Given the description of an element on the screen output the (x, y) to click on. 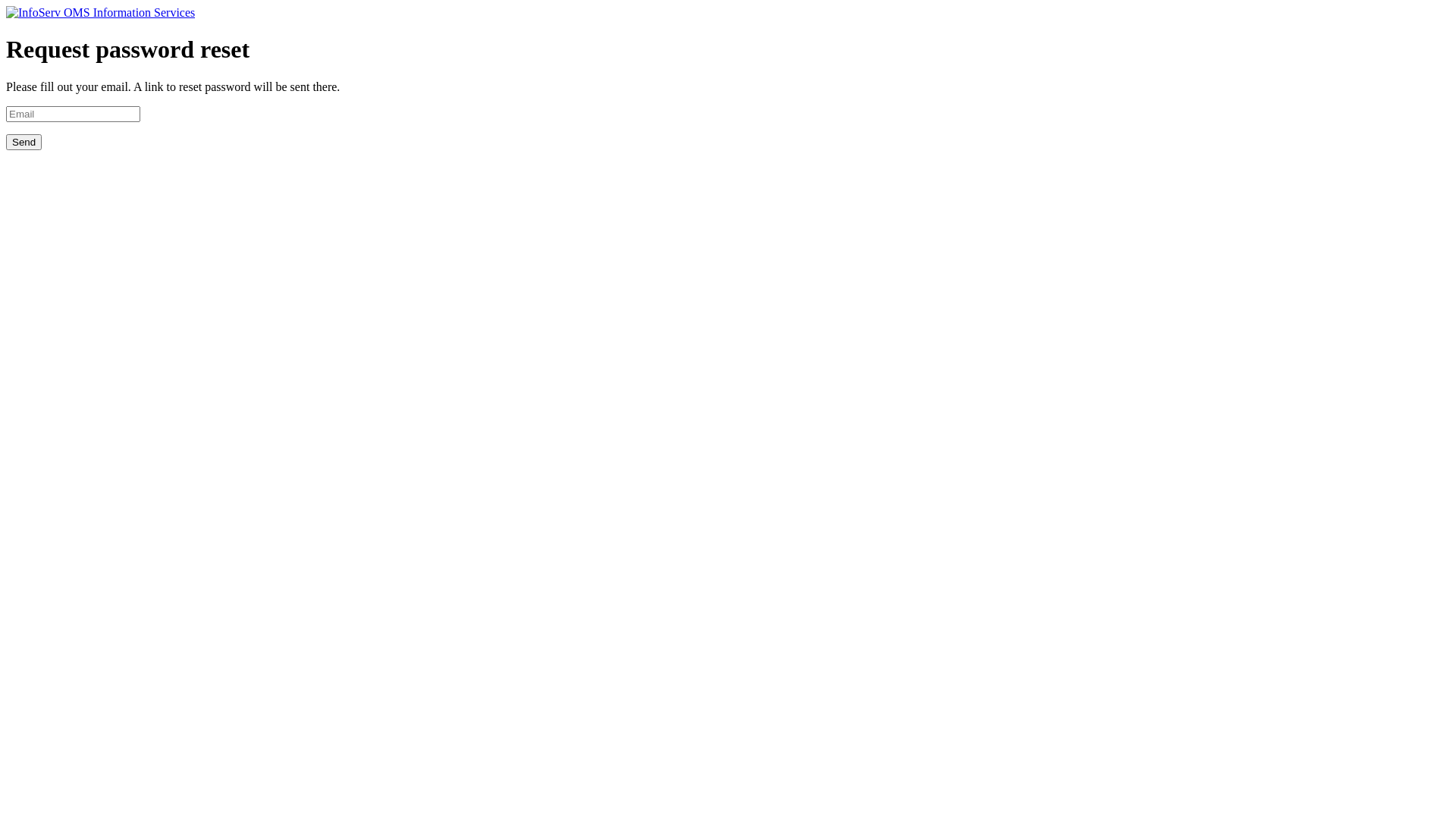
Send Element type: text (23, 142)
